Given the description of an element on the screen output the (x, y) to click on. 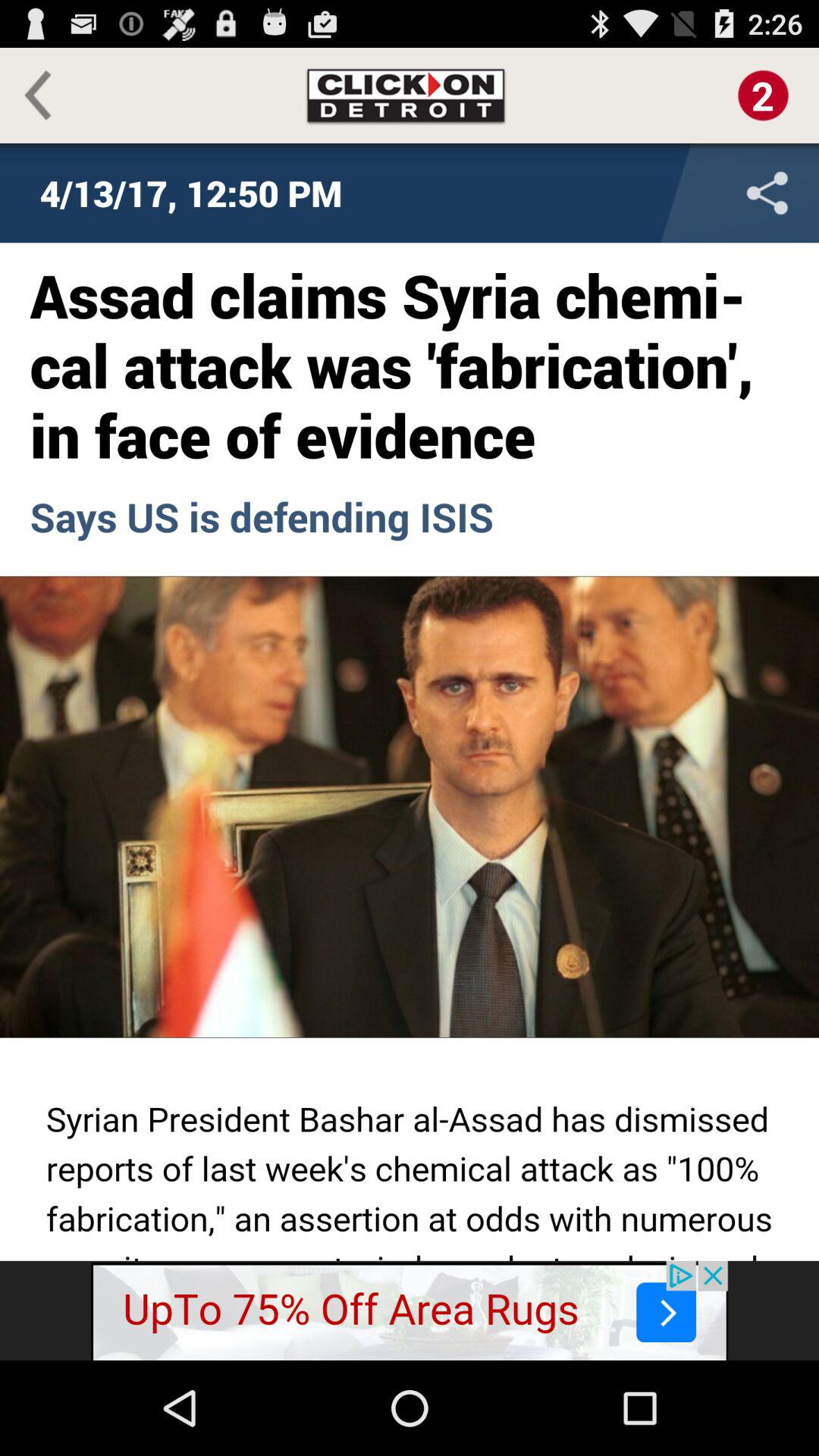
share (667, 192)
